Given the description of an element on the screen output the (x, y) to click on. 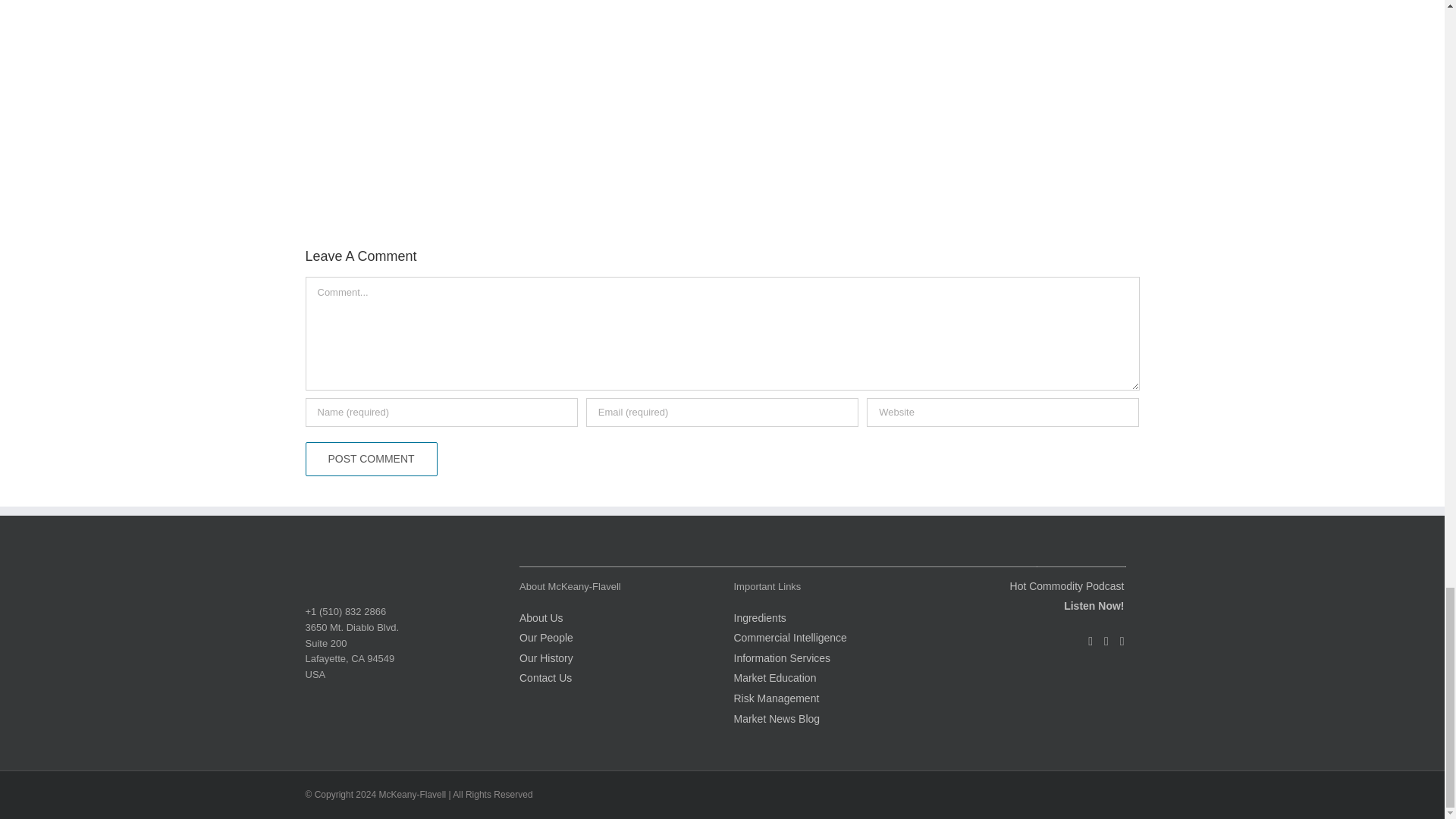
Post Comment (370, 458)
